Given the description of an element on the screen output the (x, y) to click on. 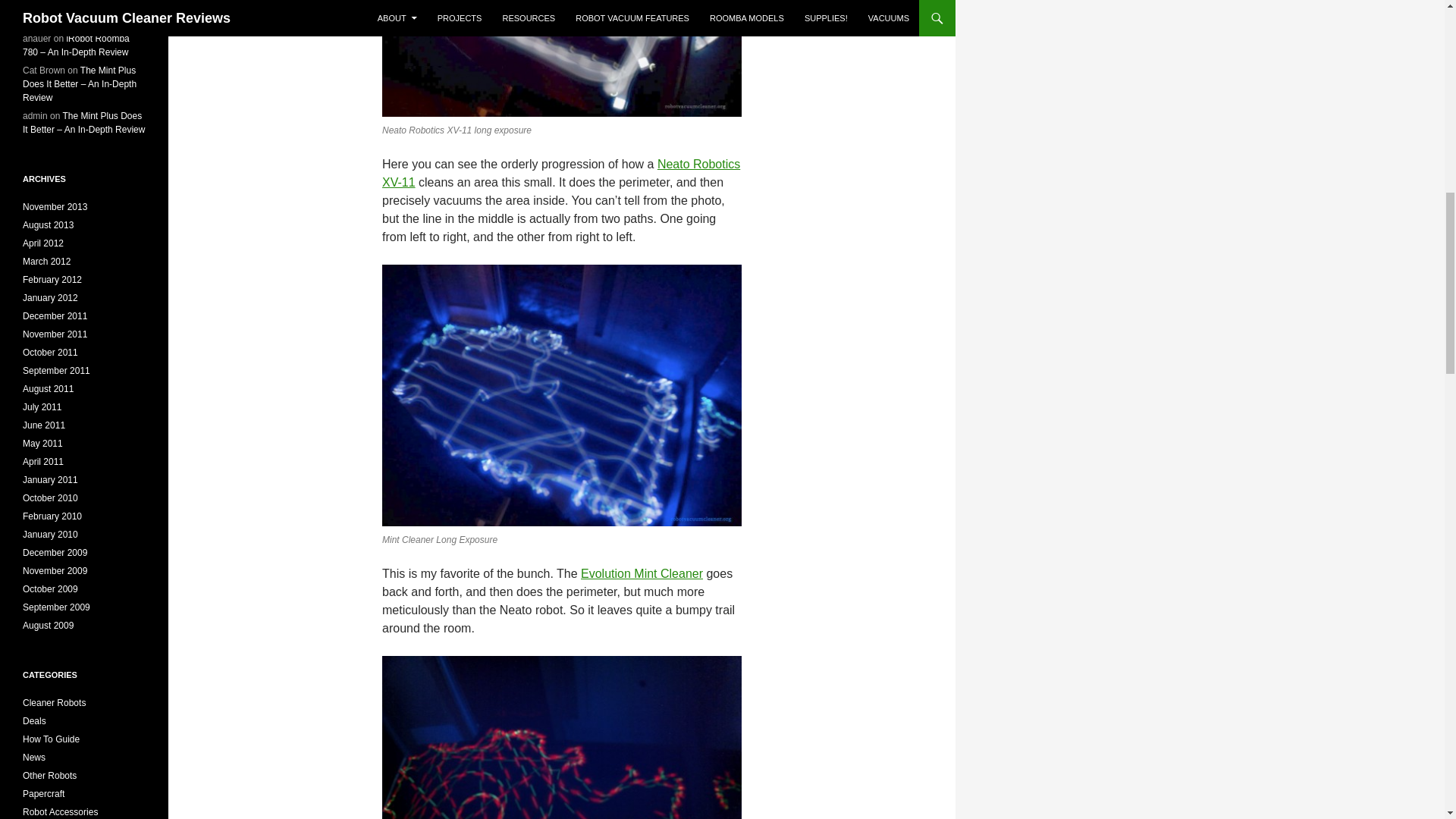
Evolution Mint Cleaner (641, 573)
Neato Robotics XV-11 (560, 173)
neato-robot-trail (561, 58)
Mint Cleaner (641, 573)
Neato Robotics (560, 173)
mint-trails-m (561, 395)
